Given the description of an element on the screen output the (x, y) to click on. 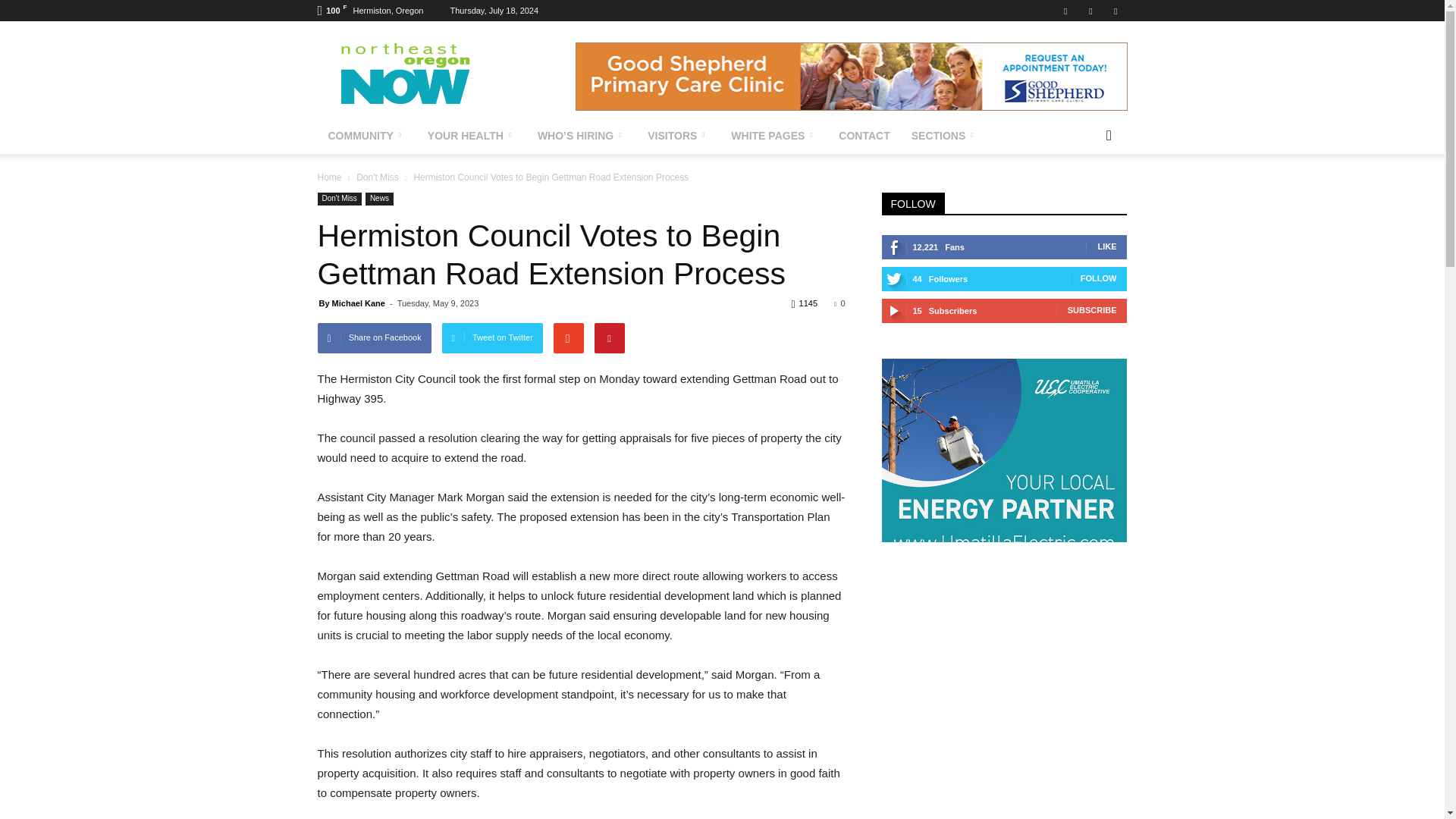
Northeast Oregon Now Home (445, 76)
Twitter (1090, 10)
Facebook (1065, 10)
Youtube (1114, 10)
